Given the description of an element on the screen output the (x, y) to click on. 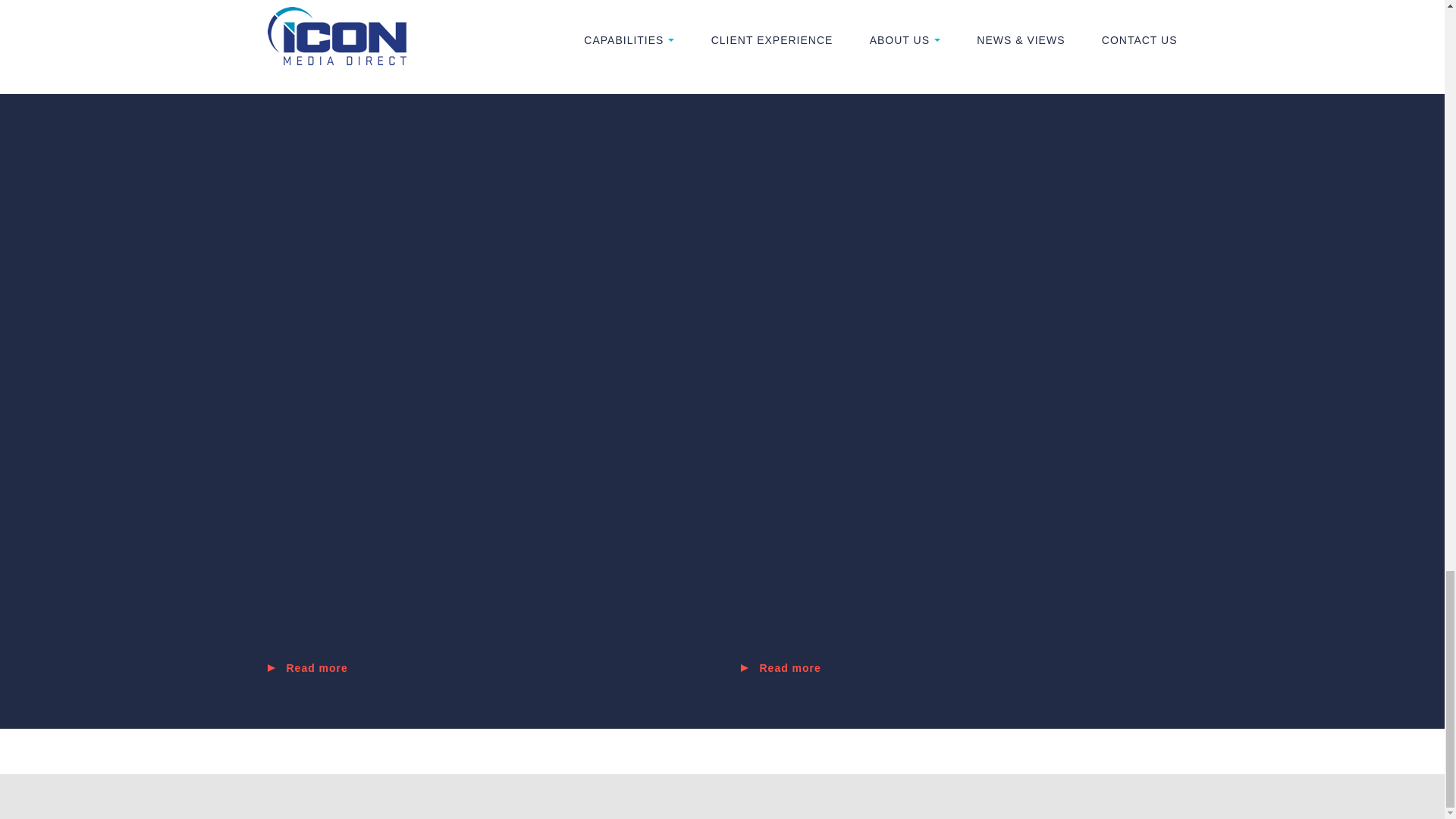
Read more (484, 667)
Read more (957, 667)
